Given the description of an element on the screen output the (x, y) to click on. 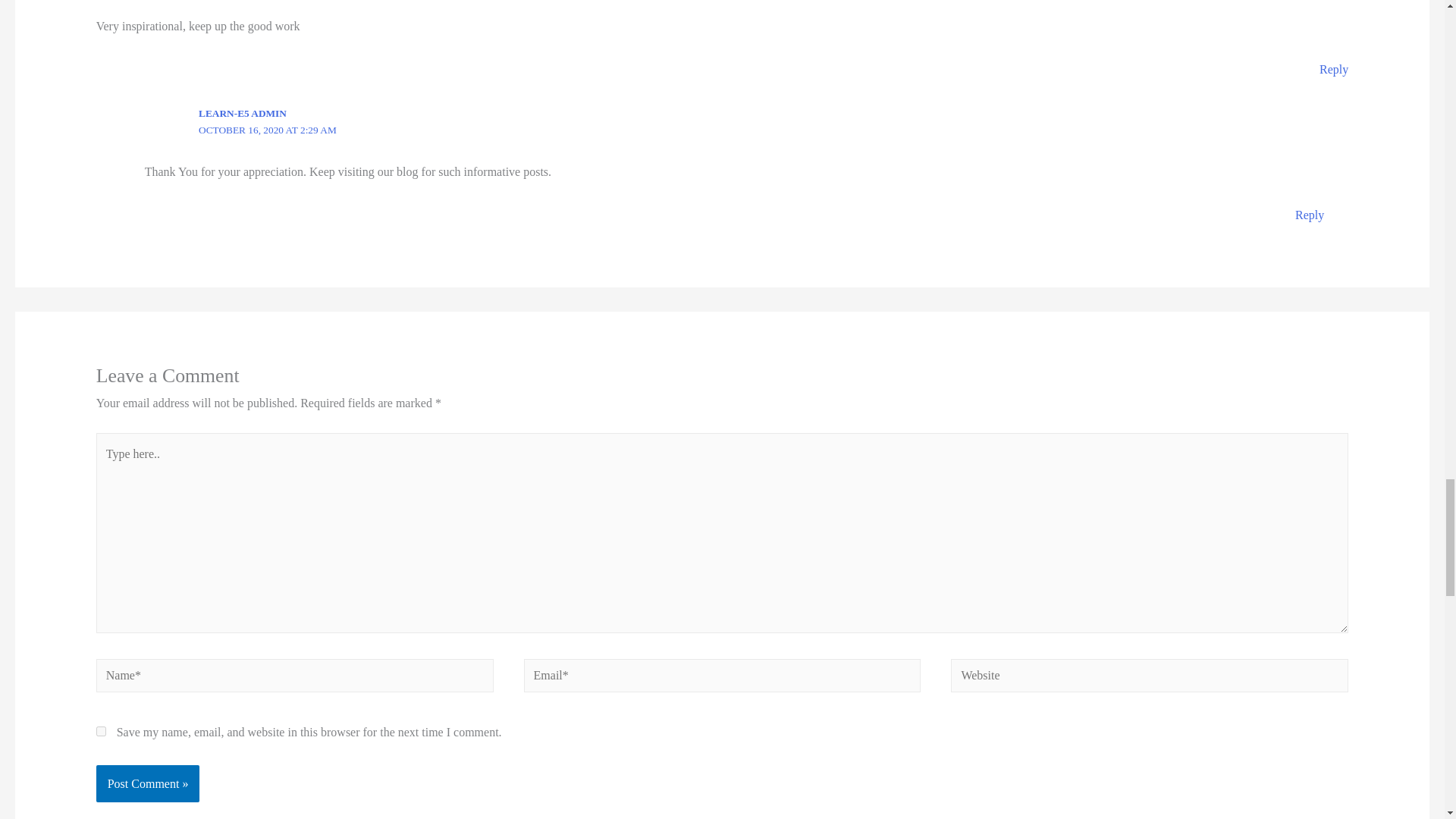
Reply (1309, 214)
Reply (1333, 69)
yes (101, 731)
LEARN-E5 ADMIN (242, 112)
OCTOBER 16, 2020 AT 2:29 AM (267, 129)
